Given the description of an element on the screen output the (x, y) to click on. 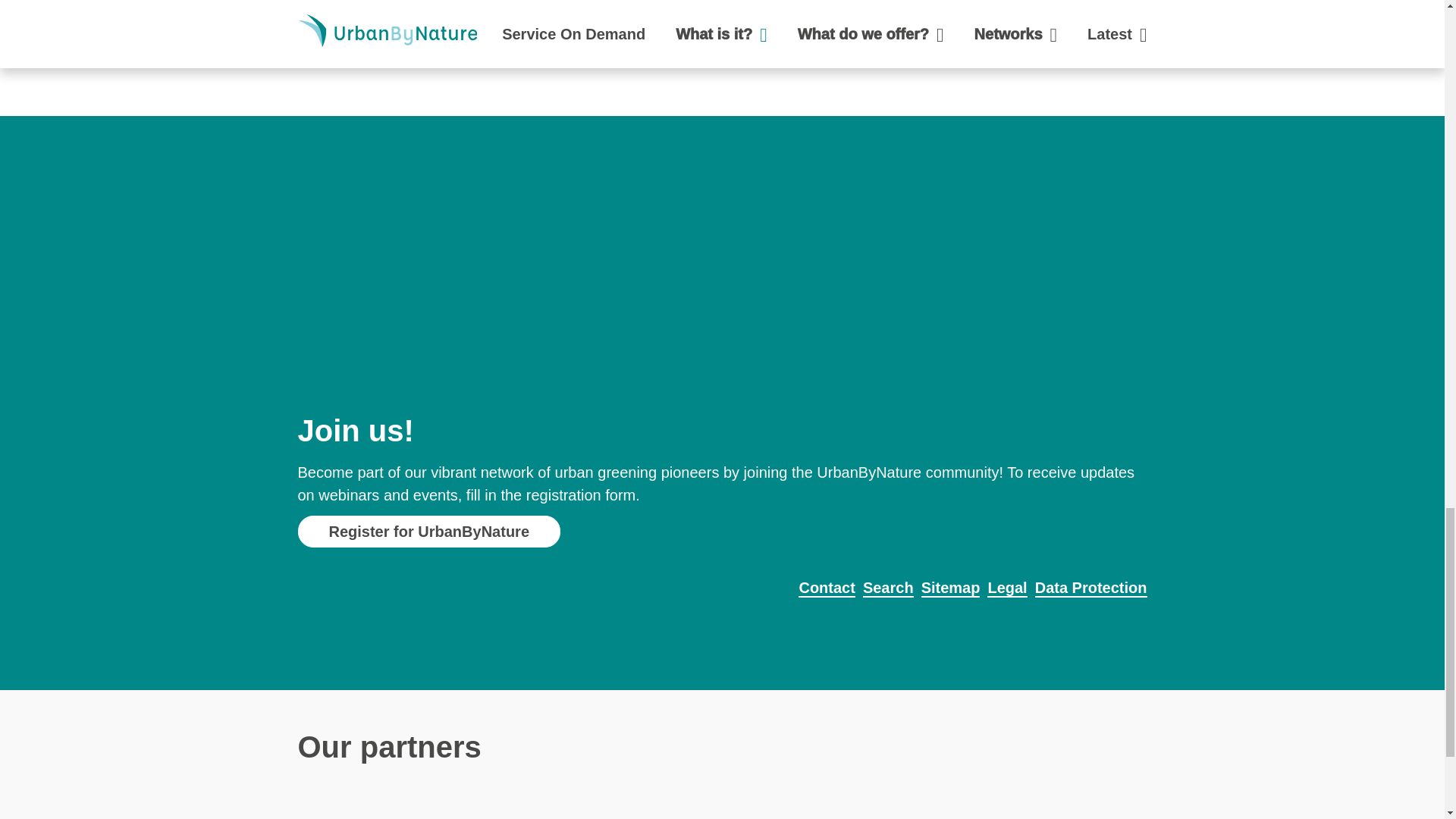
YouTube (334, 46)
LinkedIn (334, 5)
